Given the description of an element on the screen output the (x, y) to click on. 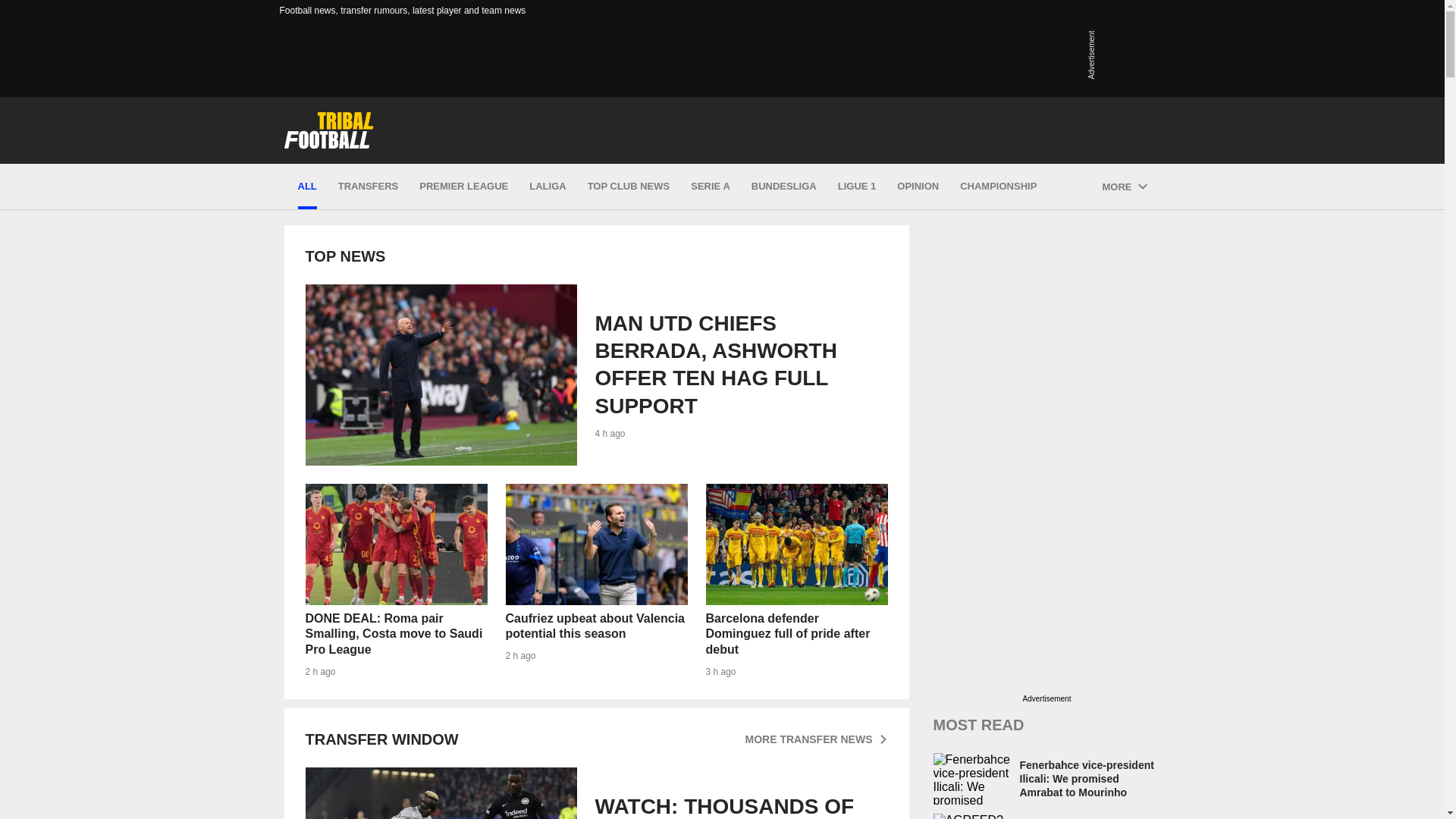
TOP CLUB NEWS (628, 186)
Caufriez upbeat about Valencia potential this season (596, 581)
BUNDESLIGA (783, 186)
Barcelona defender Dominguez full of pride after debut (795, 544)
Man Utd chiefs Berrada, Ashworth offer Ten Hag full support (595, 375)
OPINION (917, 186)
Caufriez upbeat about Valencia potential this season (596, 544)
